Given the description of an element on the screen output the (x, y) to click on. 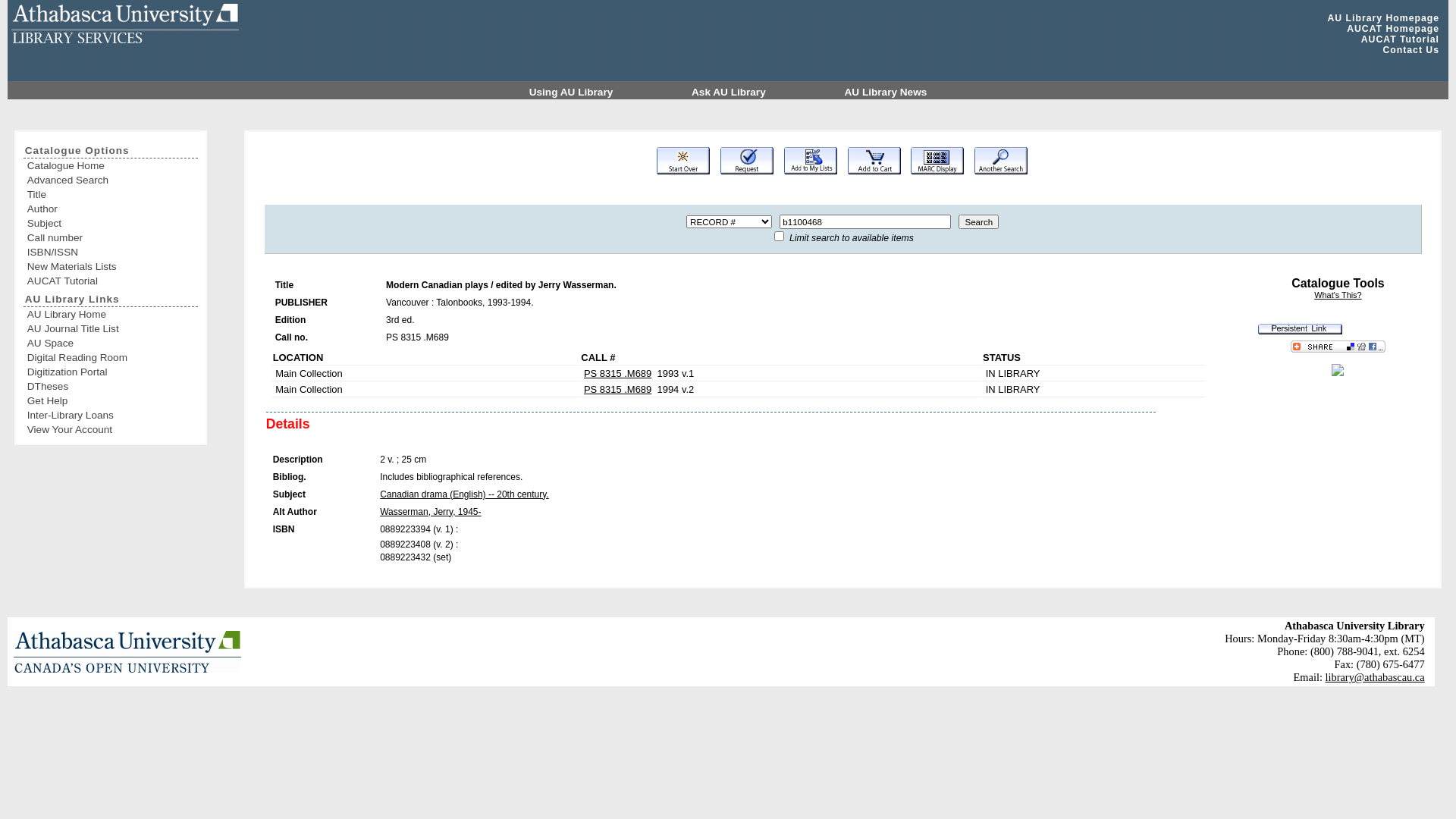
Call number Element type: text (111, 237)
Advanced Search Element type: text (111, 179)
Inter-Library Loans Element type: text (111, 414)
AU Journal Title List Element type: text (111, 328)
What's This? Element type: text (1337, 294)
AU Library News Element type: text (885, 91)
library@athabascau.ca Element type: text (1374, 677)
Ask AU Library Element type: text (729, 91)
AU Space Element type: text (111, 342)
Author Element type: text (111, 208)
AU Library Home Element type: text (111, 314)
AUCAT Homepage Element type: text (1392, 28)
Digitization Portal Element type: text (111, 371)
AUCAT Tutorial Element type: text (111, 280)
View Your Account Element type: text (111, 429)
Wasserman, Jerry, 1945- Element type: text (429, 511)
Search Element type: text (978, 221)
Using AU Library Element type: text (572, 91)
Title Element type: text (111, 194)
PS 8315 .M689 Element type: text (617, 373)
Canadian drama (English) -- 20th century. Element type: text (464, 494)
PS 8315 .M689 Element type: text (617, 389)
Contact Us Element type: text (1410, 49)
Digital Reading Room Element type: text (111, 357)
AUCAT Tutorial Element type: text (1400, 39)
ISBN:millennium.record Element type: hover (1337, 372)
Subject Element type: text (111, 223)
Athabasca University Homepage Element type: hover (127, 651)
AU Library Homepage Element type: text (1383, 17)
Get Help Element type: text (111, 400)
DTheses Element type: text (111, 386)
Catalogue Home Element type: text (111, 165)
ISBN/ISSN Element type: text (111, 251)
New Materials Lists Element type: text (111, 266)
